Given the description of an element on the screen output the (x, y) to click on. 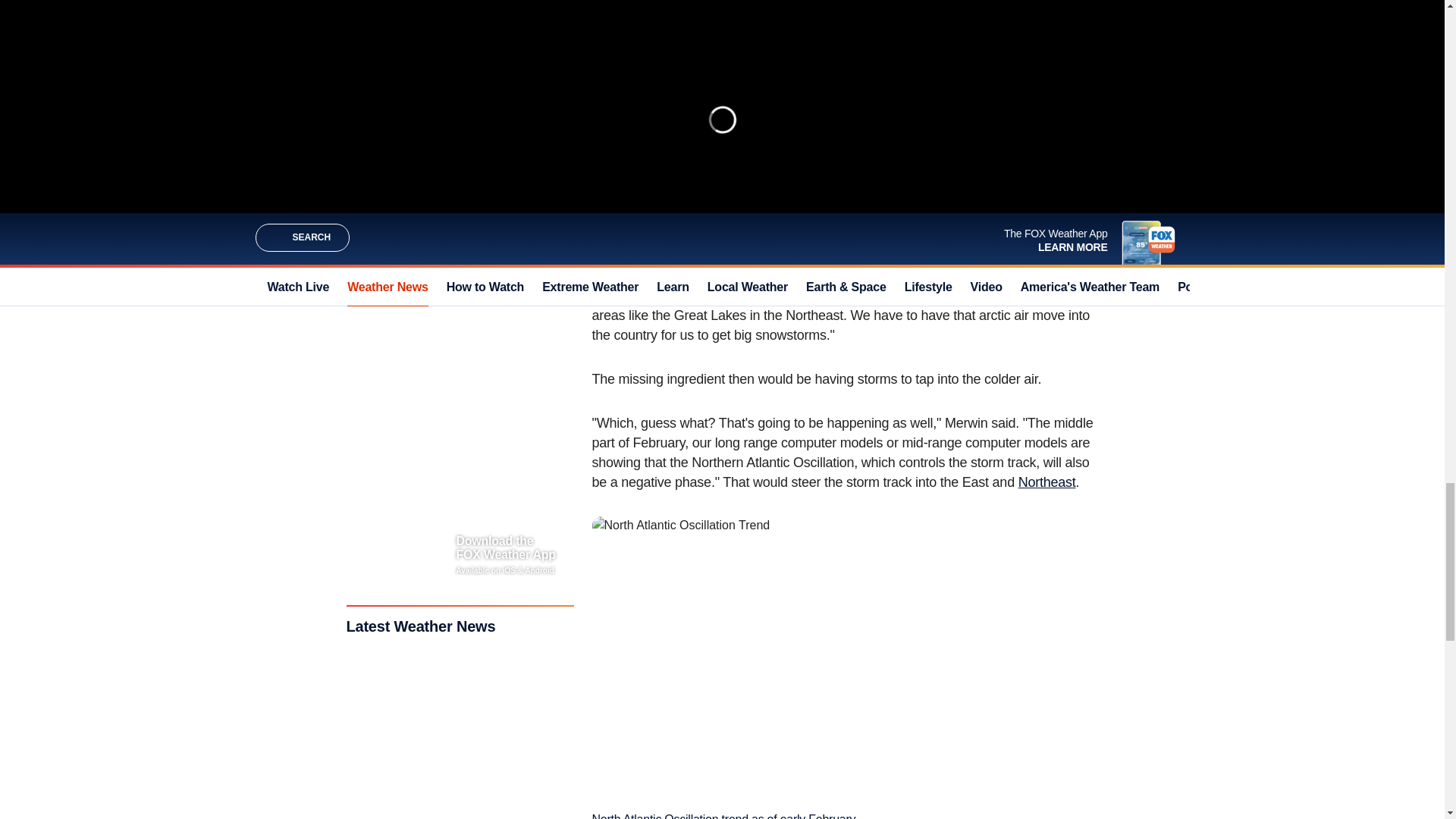
Northeast (1046, 482)
